Given the description of an element on the screen output the (x, y) to click on. 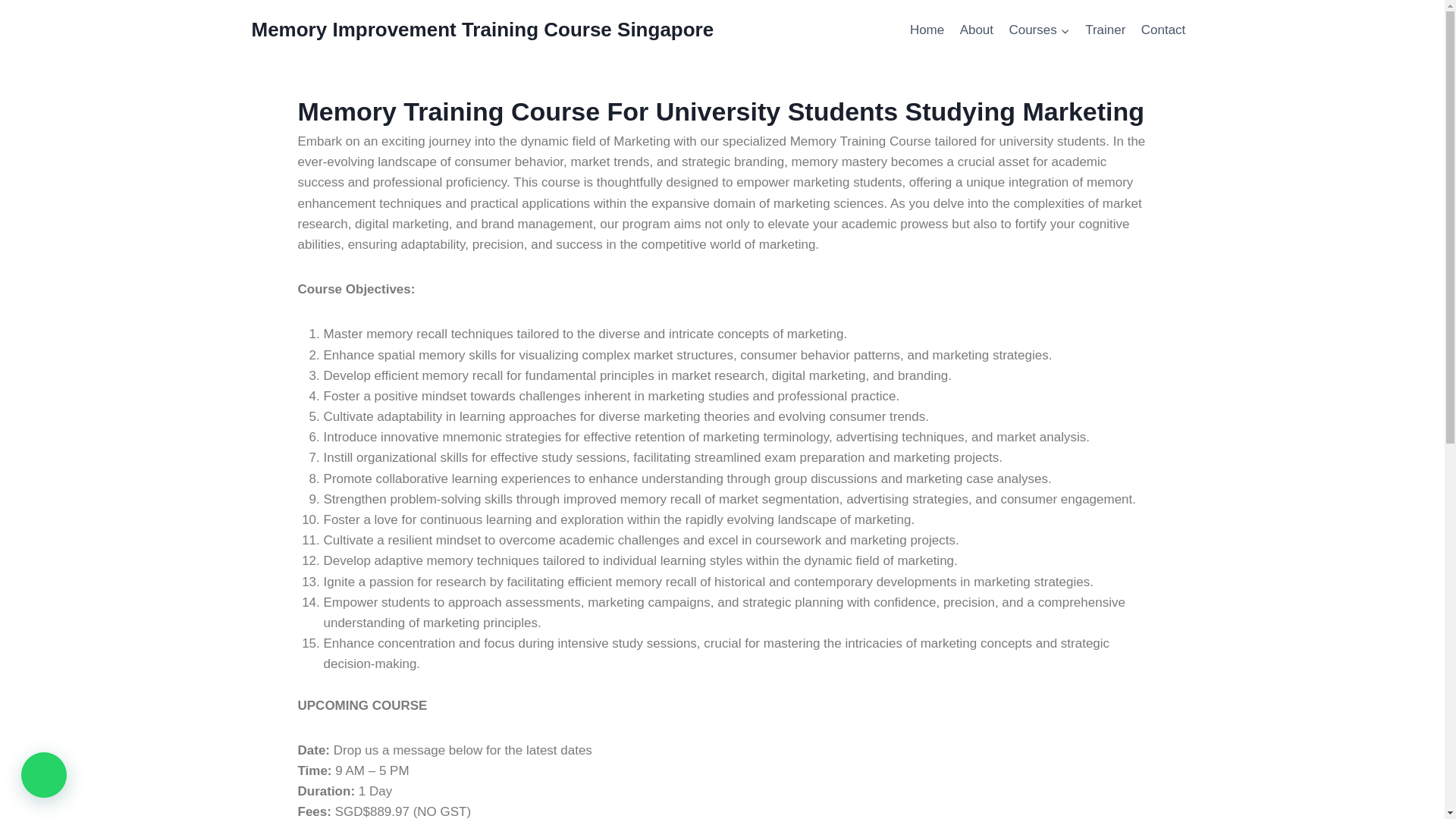
Contact (1163, 30)
Trainer (1105, 30)
About (976, 30)
Memory Improvement Training Course Singapore (482, 29)
Home (927, 30)
Courses (1039, 30)
